Given the description of an element on the screen output the (x, y) to click on. 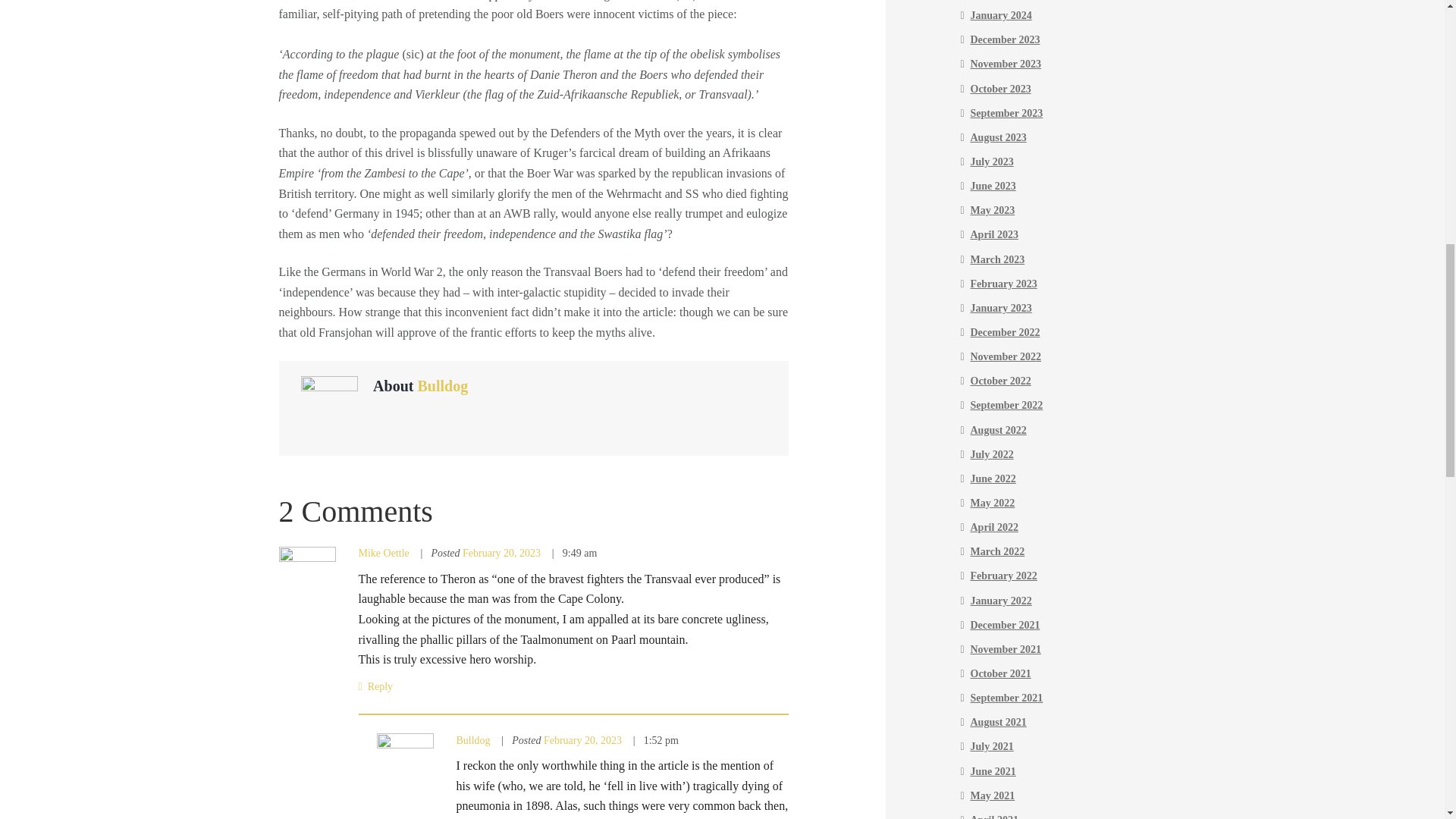
October 2023 (1000, 89)
August 2023 (998, 137)
Bulldog (441, 385)
December 2023 (1006, 39)
September 2023 (1007, 112)
July 2023 (992, 161)
Reply (375, 686)
November 2023 (1006, 63)
January 2024 (1001, 15)
